Given the description of an element on the screen output the (x, y) to click on. 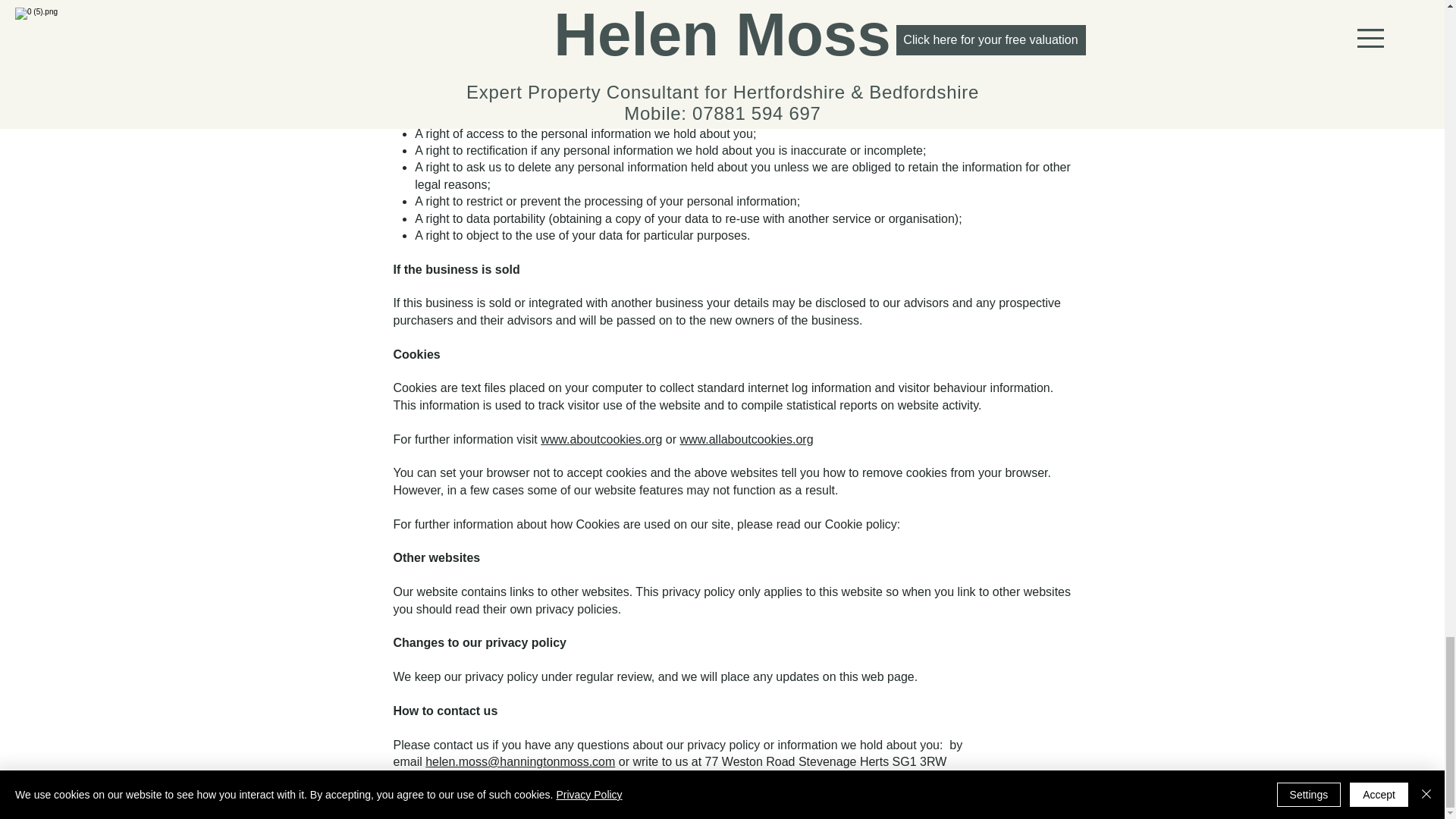
Proudly created by Juliet Sidney Bamboo Web Design (785, 800)
www.allaboutcookies.org (745, 439)
www.aboutcookies.org (601, 439)
Privacy Policy (721, 784)
